Given the description of an element on the screen output the (x, y) to click on. 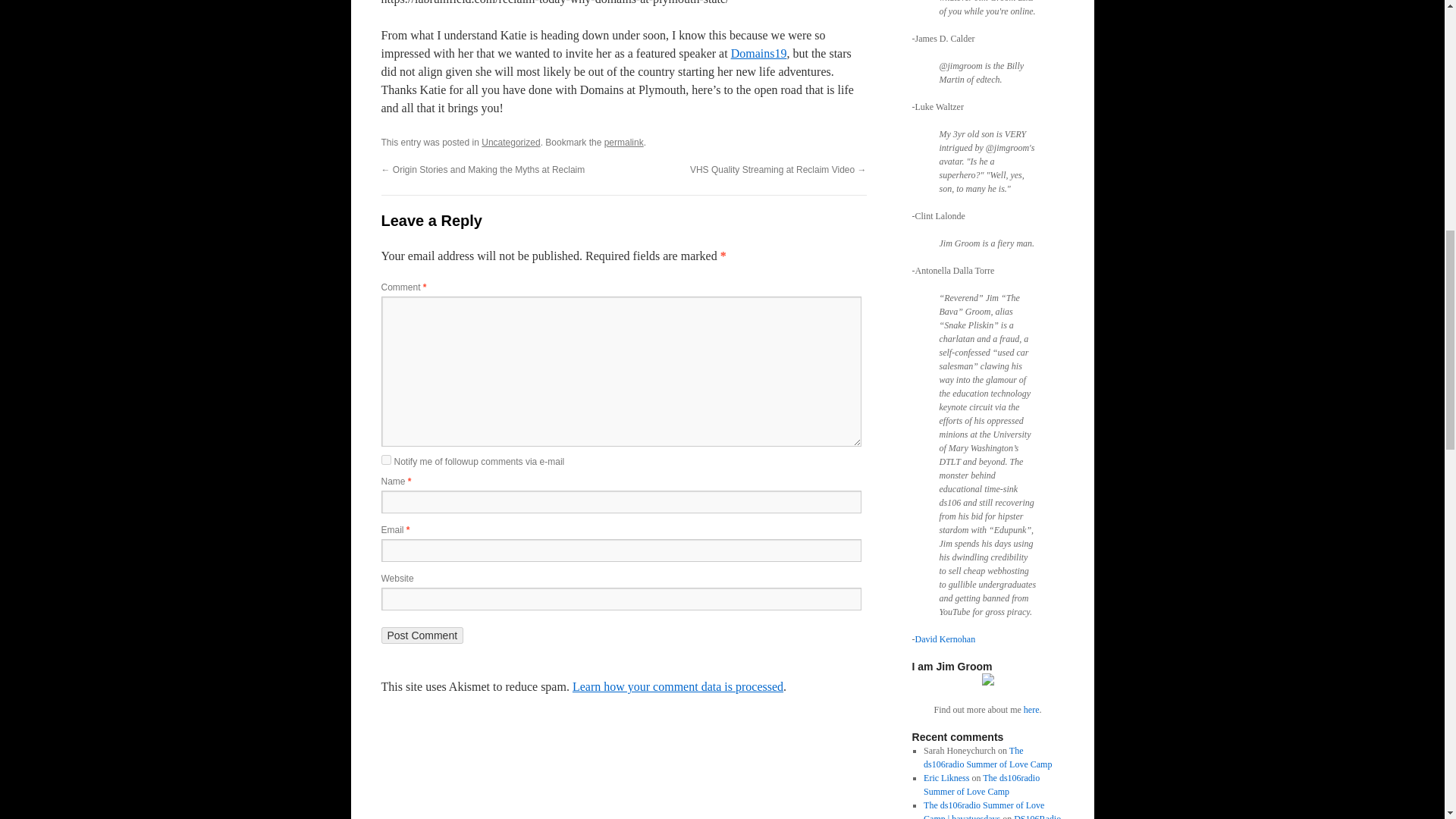
Eric Likness (946, 777)
Learn how your comment data is processed (677, 686)
subscribe (385, 460)
Post Comment (421, 635)
The ds106radio Summer of Love Camp (987, 757)
Post Comment (421, 635)
David Kernohan (944, 638)
Uncategorized (510, 142)
here (1031, 709)
permalink (623, 142)
